Given the description of an element on the screen output the (x, y) to click on. 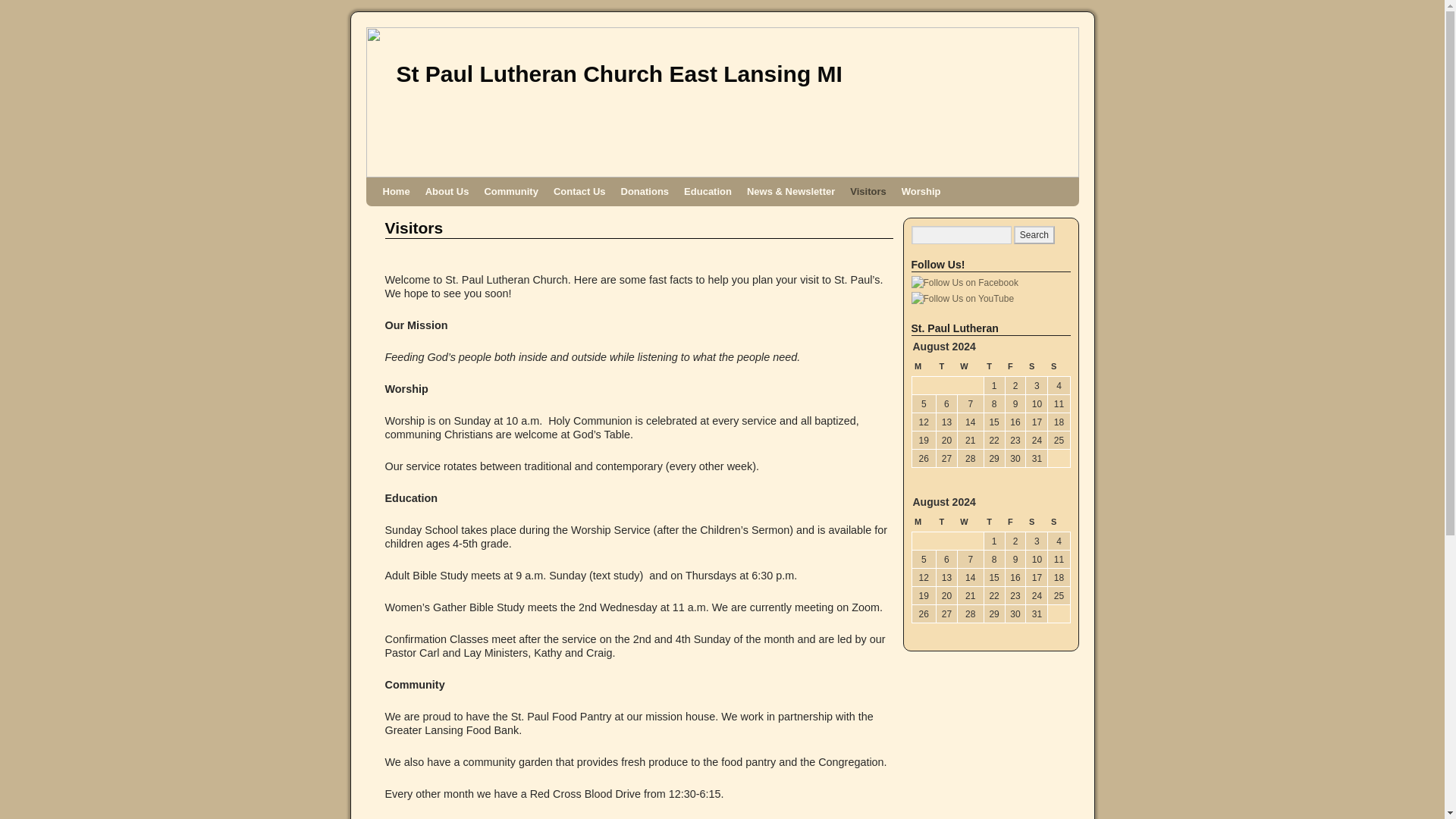
Thursday (994, 366)
St Paul Lutheran Church East Lansing MI (618, 73)
Follow Us on Facebook (964, 282)
Search (1033, 235)
Saturday (1037, 366)
About Us (447, 191)
Monday (923, 366)
Search (1033, 235)
Tuesday (946, 366)
Sunday (1059, 366)
